Given the description of an element on the screen output the (x, y) to click on. 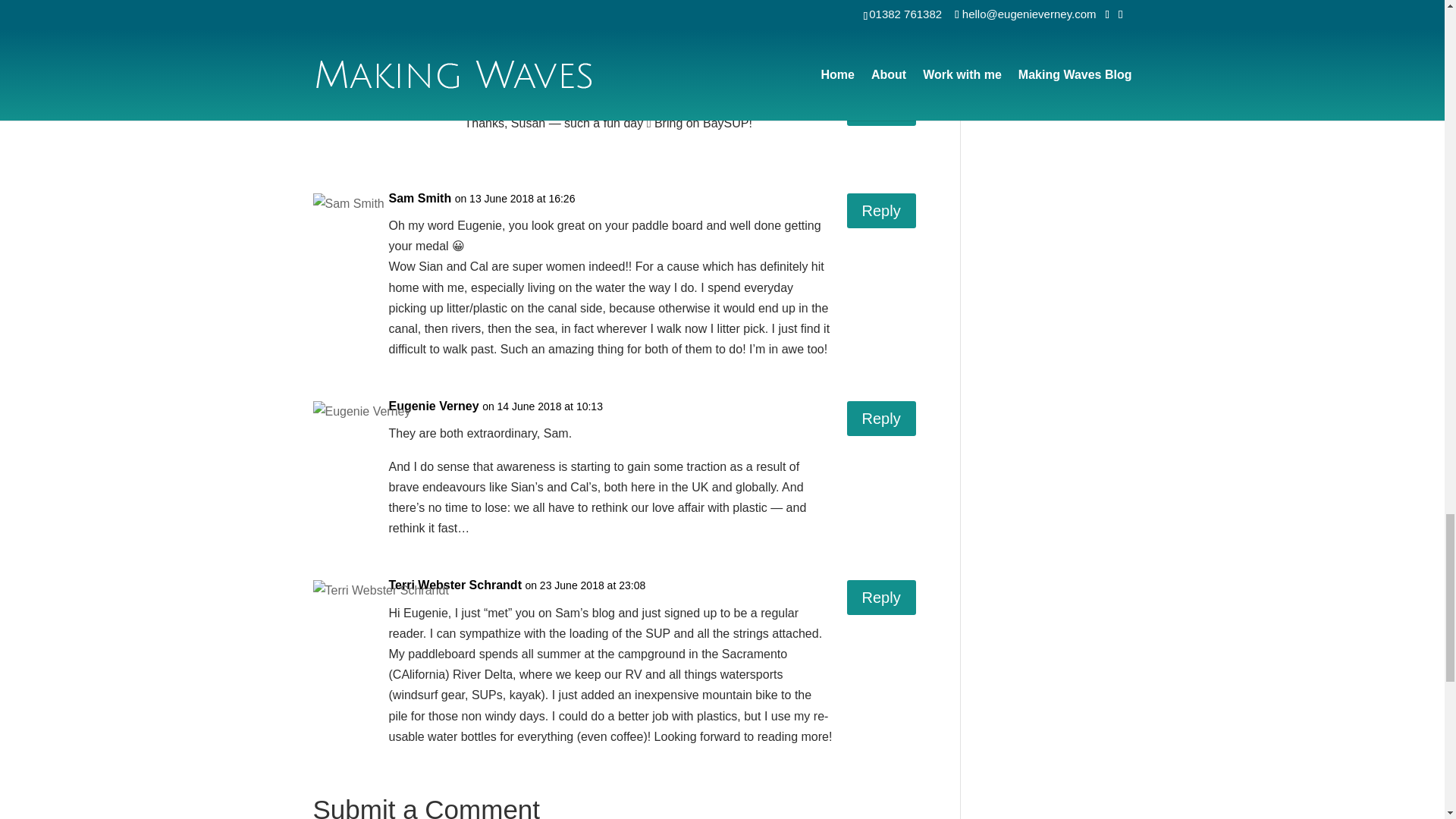
Terri Webster Schrandt (454, 584)
Sam Smith (419, 198)
Reply (881, 210)
Reply (881, 418)
Reply (881, 597)
Reply (881, 108)
